Given the description of an element on the screen output the (x, y) to click on. 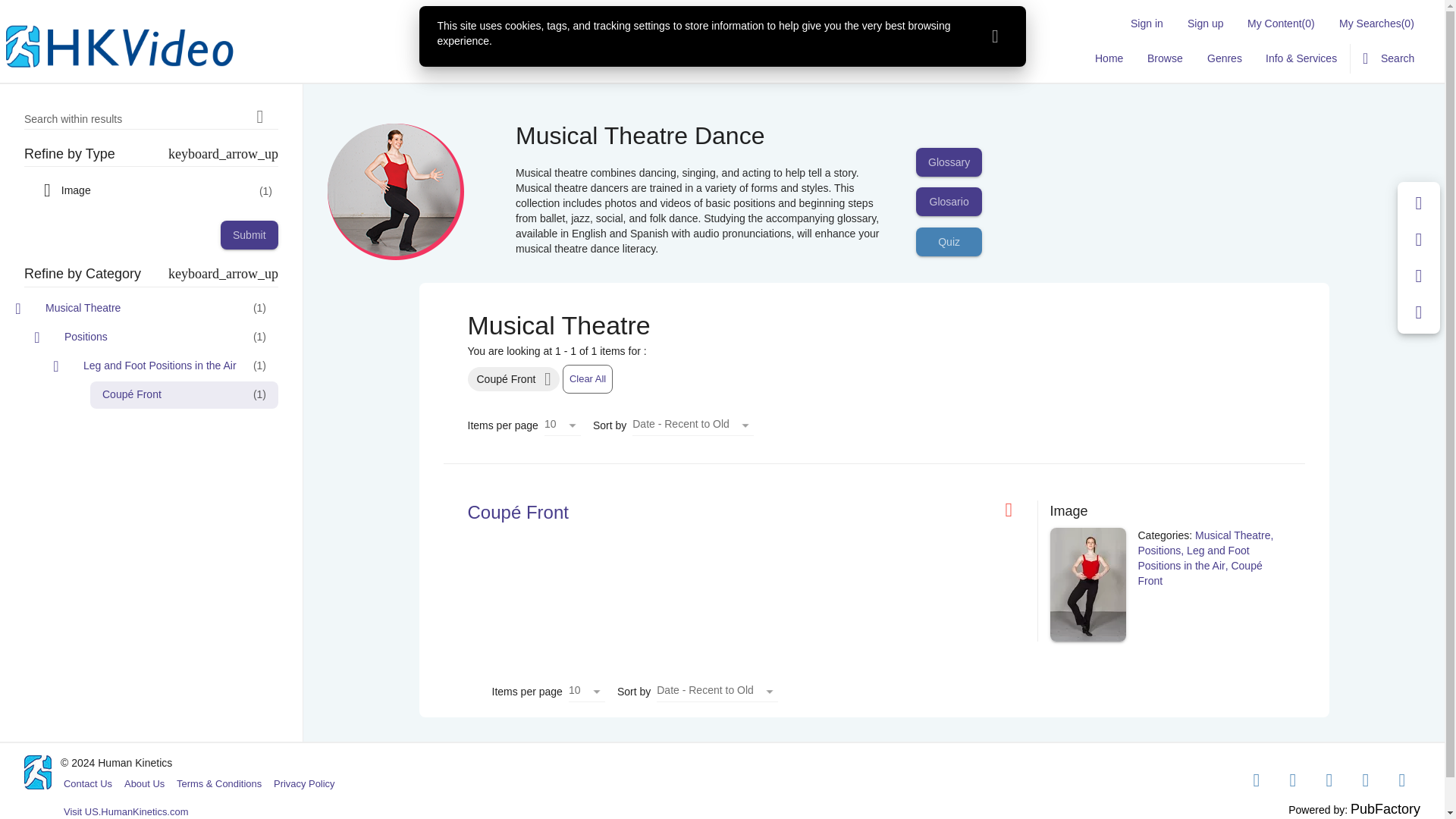
About Us (143, 783)
Sign up (1204, 23)
Visit US.HumanKinetics.com (125, 808)
Genres (1224, 58)
Sign in (1146, 23)
Save (1418, 203)
Instagram (1329, 780)
Twitter (1293, 780)
Human Kinetics (119, 46)
YouTube (1366, 780)
Skills Alert (1418, 312)
Search (1388, 58)
Email this link (1418, 239)
Search within results (259, 116)
Restricted access (1015, 510)
